Given the description of an element on the screen output the (x, y) to click on. 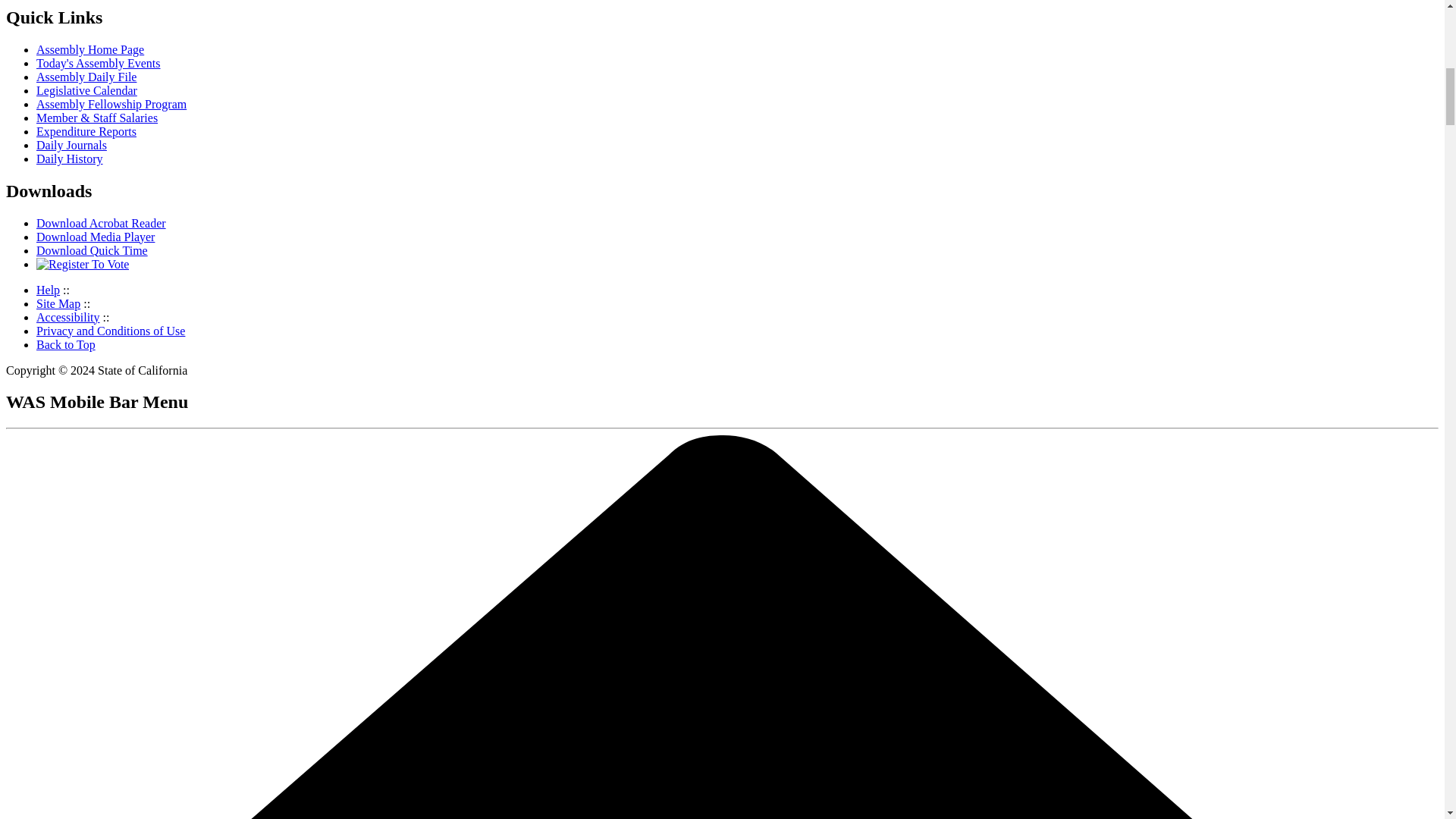
Privacy and Conditions of Use (110, 330)
Assembly Home Page (90, 49)
Help (47, 289)
Daily History (69, 158)
Today's Assembly Events (98, 62)
Expenditure Reports (86, 131)
Legislative Calendar (86, 90)
Daily Journals (71, 144)
Site Map (58, 303)
Back to Top (66, 344)
Assembly Daily File (86, 76)
Assembly Fellowship Program (111, 103)
